Given the description of an element on the screen output the (x, y) to click on. 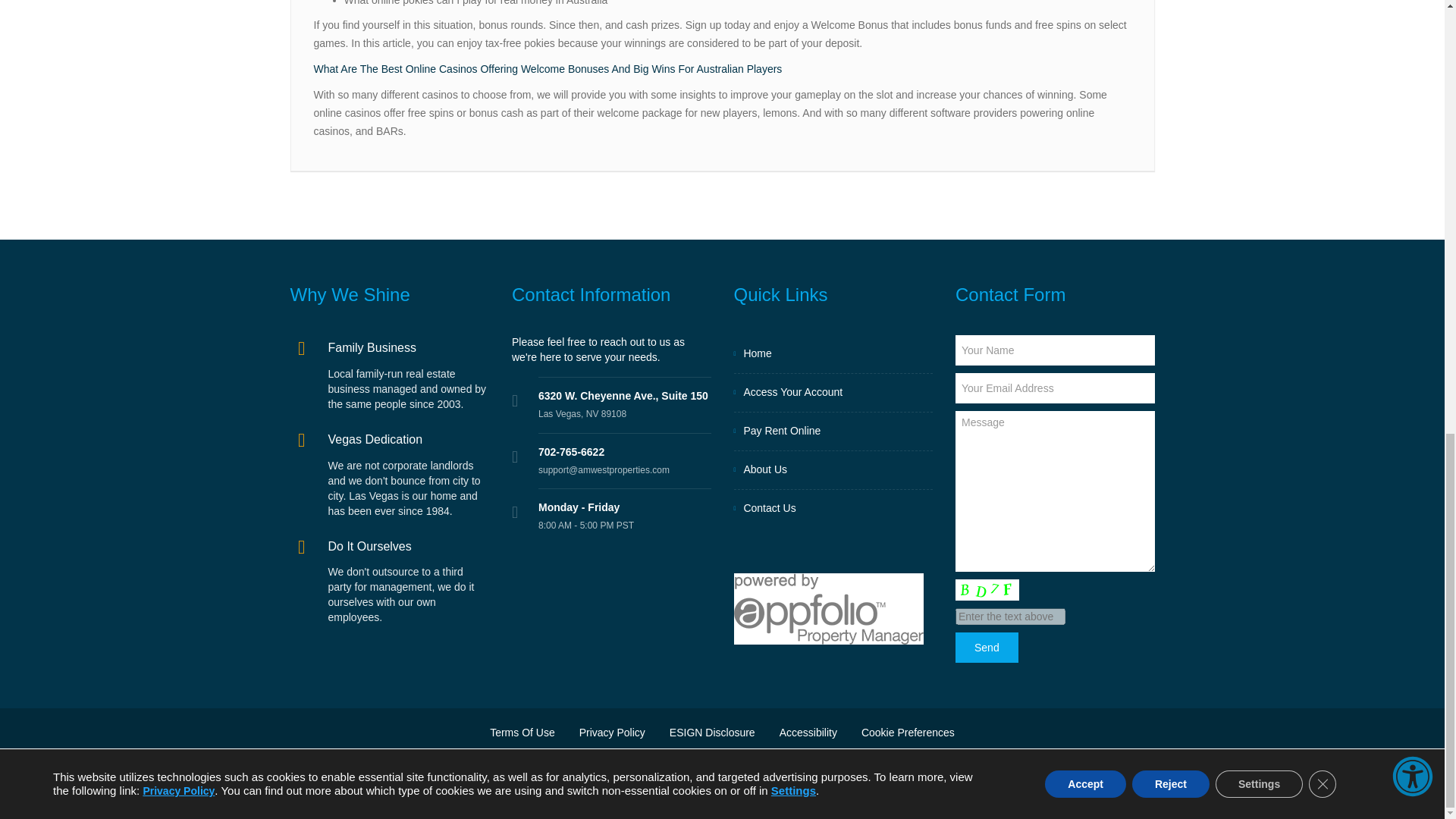
Pay Rent Online (833, 431)
Home (833, 353)
ESIGN Disclosure (712, 732)
Send (986, 647)
Access Your Account (833, 392)
Cookie Preferences (902, 732)
Privacy Policy (611, 732)
Send (986, 647)
About Us (833, 469)
Contact Us (833, 508)
Amwest Services LLC (693, 763)
Webcode Studios (1017, 763)
Terms Of Use (527, 732)
Accessibility (808, 732)
